Given the description of an element on the screen output the (x, y) to click on. 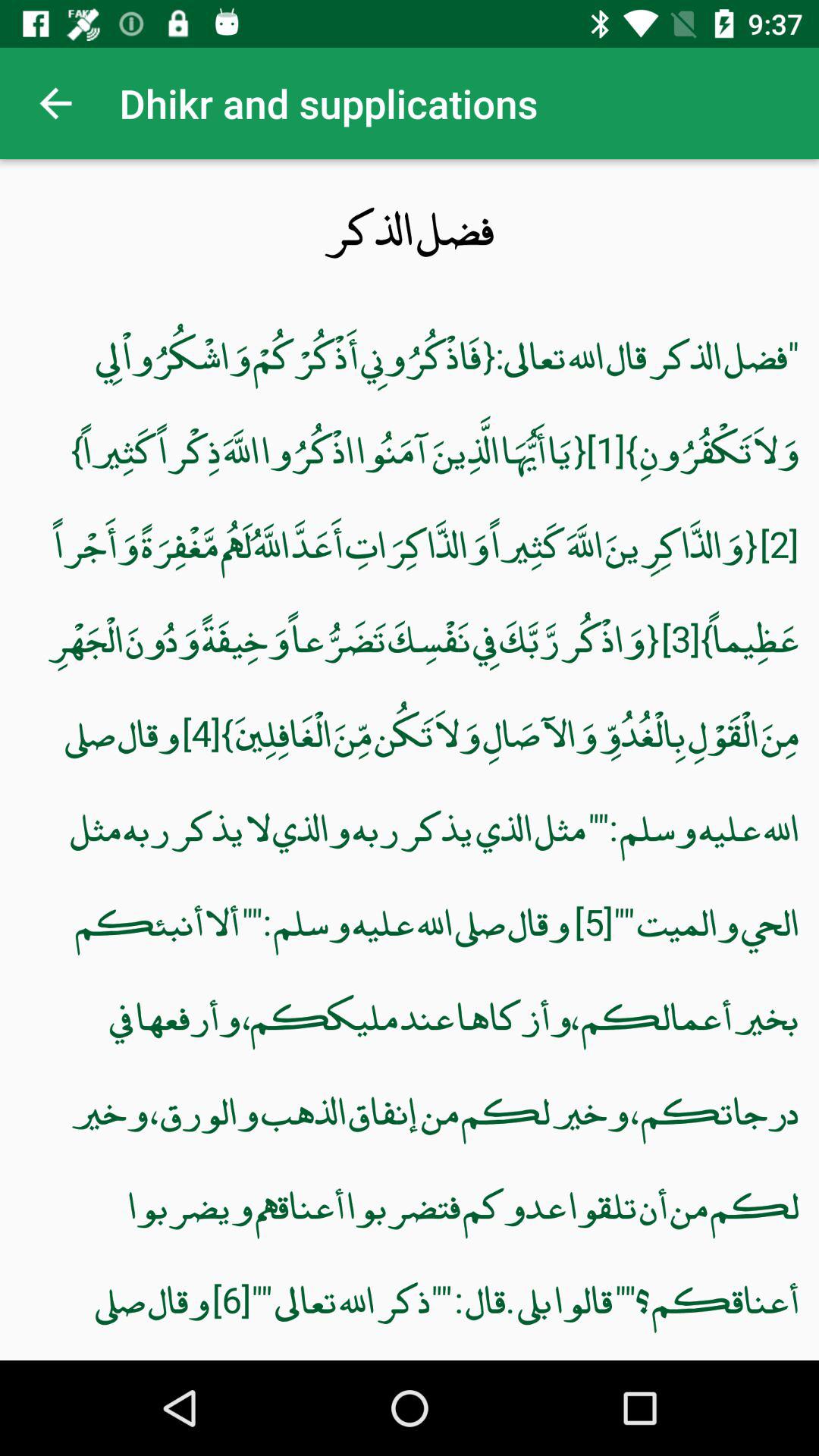
click the item to the left of the dhikr and supplications icon (55, 103)
